Given the description of an element on the screen output the (x, y) to click on. 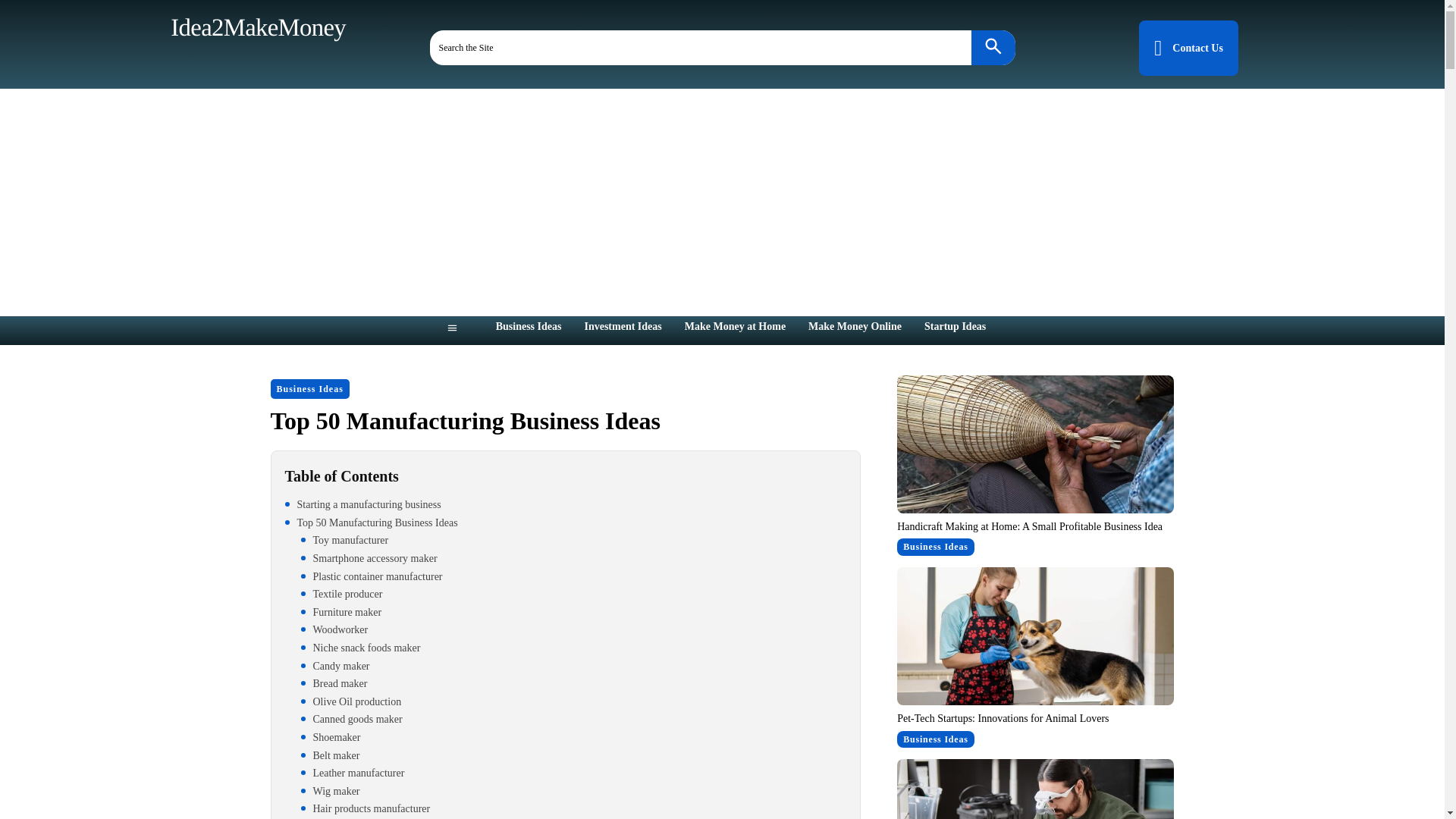
Idea2MakeMoney (255, 26)
Contact Us (1188, 48)
Contact Us (1188, 48)
Idea2MakeMoney (255, 25)
